Given the description of an element on the screen output the (x, y) to click on. 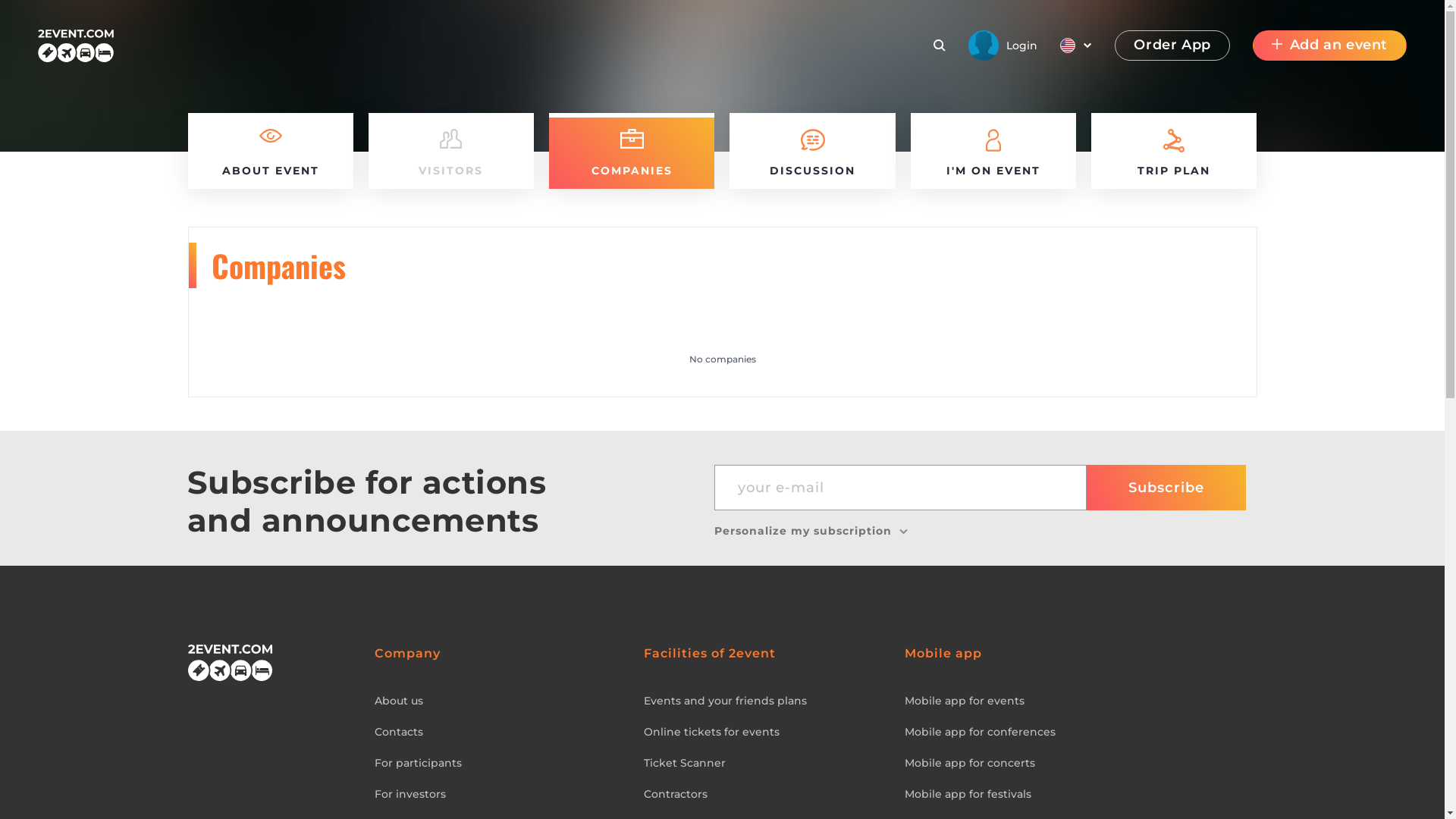
TRIP PLAN Element type: text (1173, 150)
For investors Element type: text (497, 794)
COMPANIES Element type: text (631, 150)
Mobile app for concerts Element type: text (1080, 763)
Mobile app for events Element type: text (1080, 701)
Contractors Element type: text (766, 794)
Add an event Element type: text (1329, 45)
VISITORS Element type: text (450, 150)
Subscribe Element type: text (1166, 487)
Ticket Scanner Element type: text (766, 763)
Online tickets for events Element type: text (766, 732)
Order App Element type: text (1171, 45)
Events and your friends plans Element type: text (766, 701)
Contacts Element type: text (497, 732)
I'M ON EVENT Element type: text (993, 150)
For participants Element type: text (497, 763)
About us Element type: text (497, 701)
Login Element type: text (1002, 45)
DISCUSSION Element type: text (811, 150)
Mobile app for conferences Element type: text (1080, 732)
Mobile app for festivals Element type: text (1080, 794)
